Given the description of an element on the screen output the (x, y) to click on. 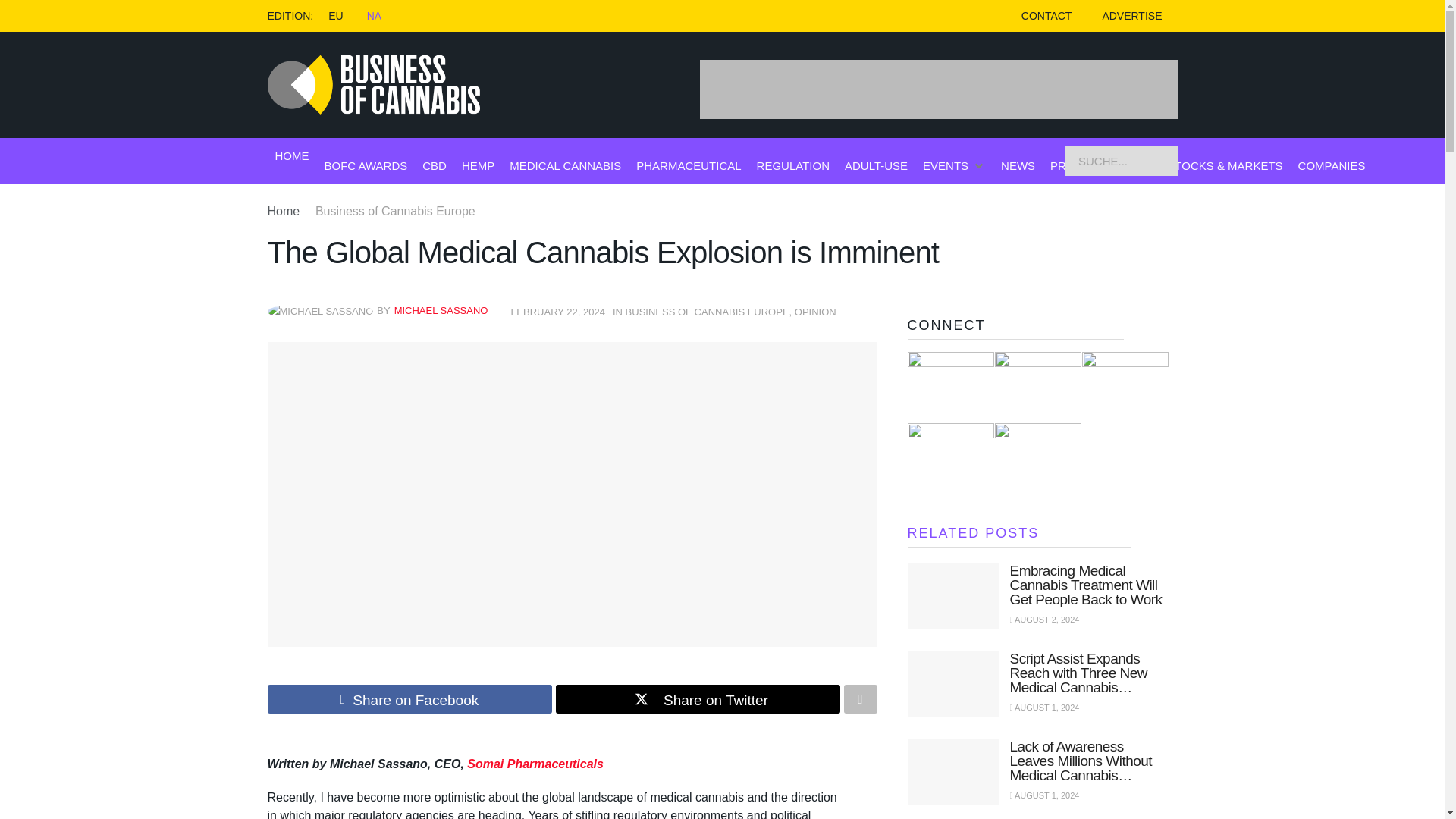
Share on Twitter (697, 698)
Business of Cannabis Europe (395, 210)
CONTACT (1046, 15)
Home (282, 210)
ADVERTISE (1131, 15)
HOME (291, 156)
MICHAEL SASSANO (440, 310)
COMPANIES (1331, 165)
MEDICAL CANNABIS (565, 165)
REGULATION (793, 165)
